Given the description of an element on the screen output the (x, y) to click on. 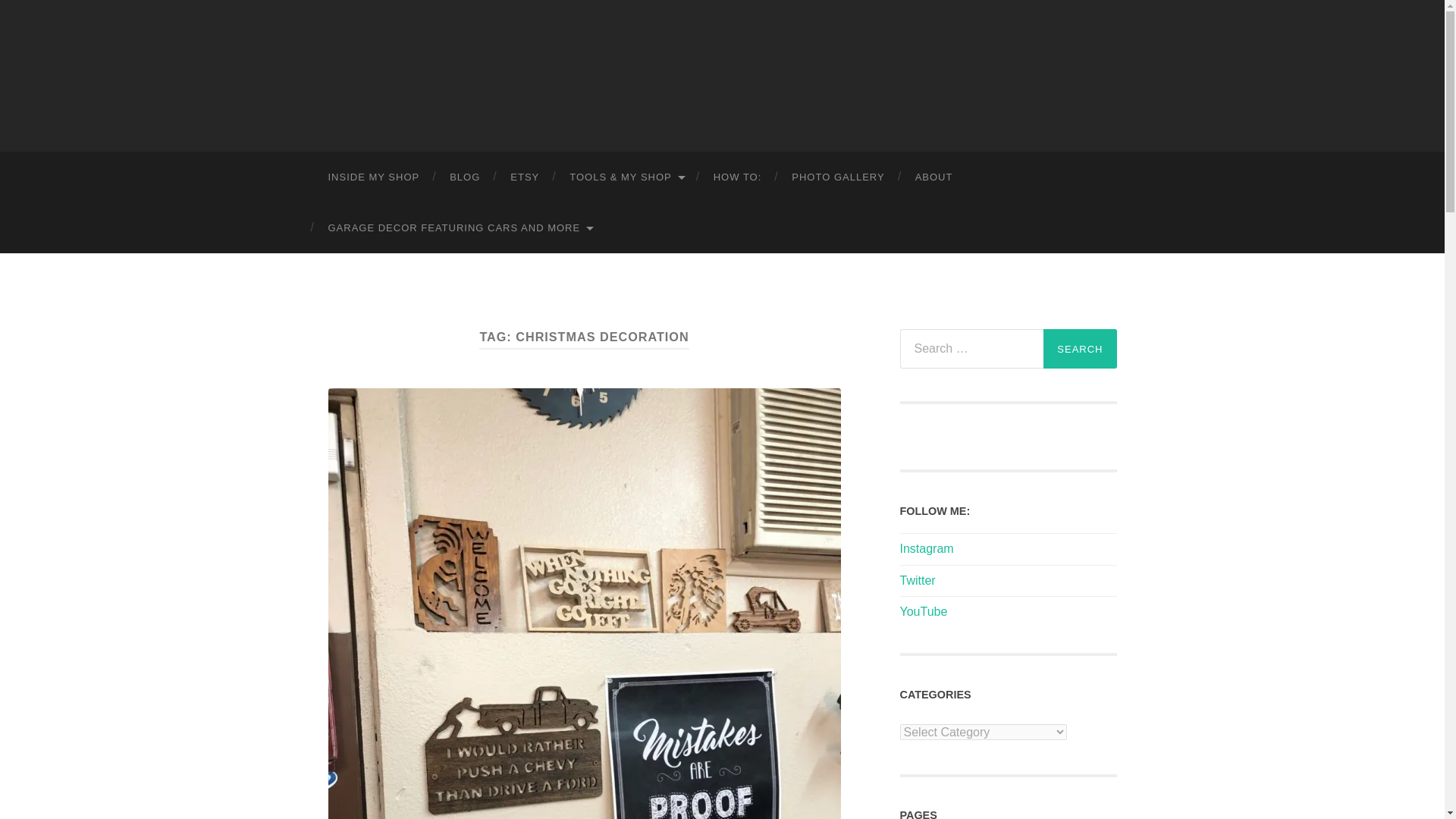
Search (1079, 348)
INSIDE MY SHOP (373, 176)
BLOG (464, 176)
PHOTO GALLERY (837, 176)
HOW TO: (737, 176)
ABOUT (933, 176)
ETSY (524, 176)
Search (1079, 348)
GARAGE DECOR FEATURING CARS AND MORE (460, 227)
